Given the description of an element on the screen output the (x, y) to click on. 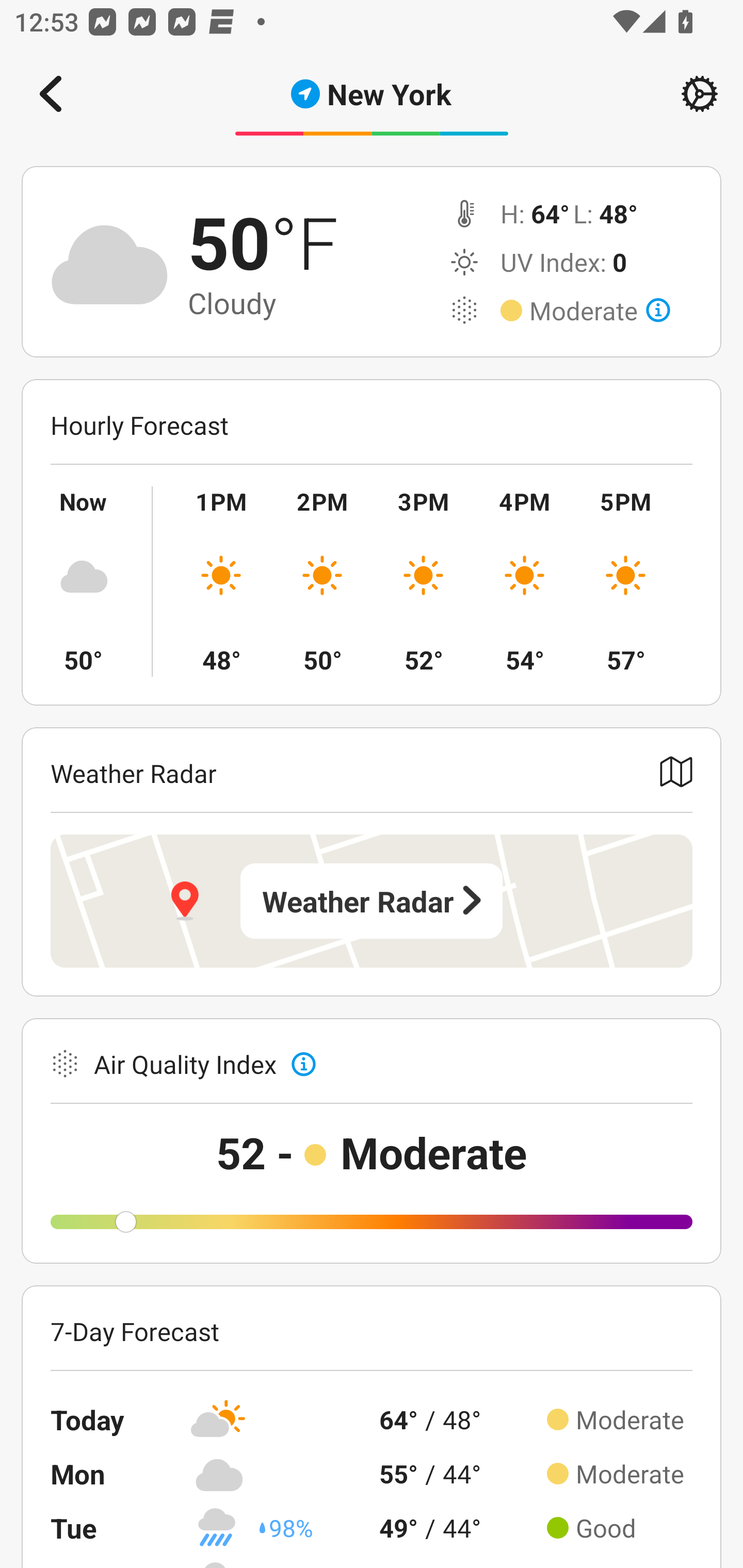
Navigate up (50, 93)
Setting (699, 93)
Moderate (599, 310)
Weather Radar (371, 900)
